Given the description of an element on the screen output the (x, y) to click on. 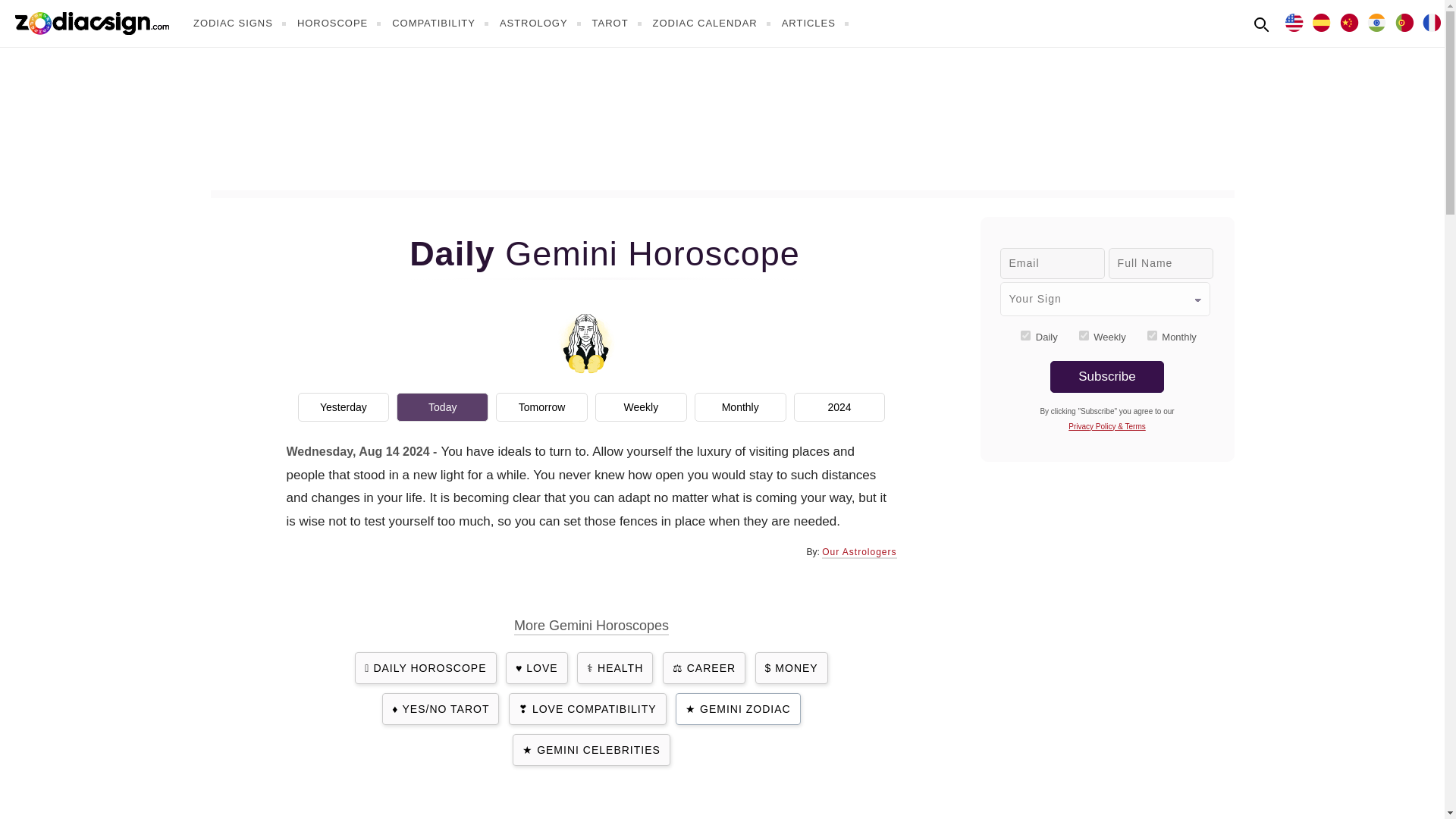
HOROSCOPE (341, 23)
In English (1294, 21)
weekly (1083, 335)
ZODIAC SIGNS (241, 23)
daily (1025, 335)
monthly (1152, 335)
